Given the description of an element on the screen output the (x, y) to click on. 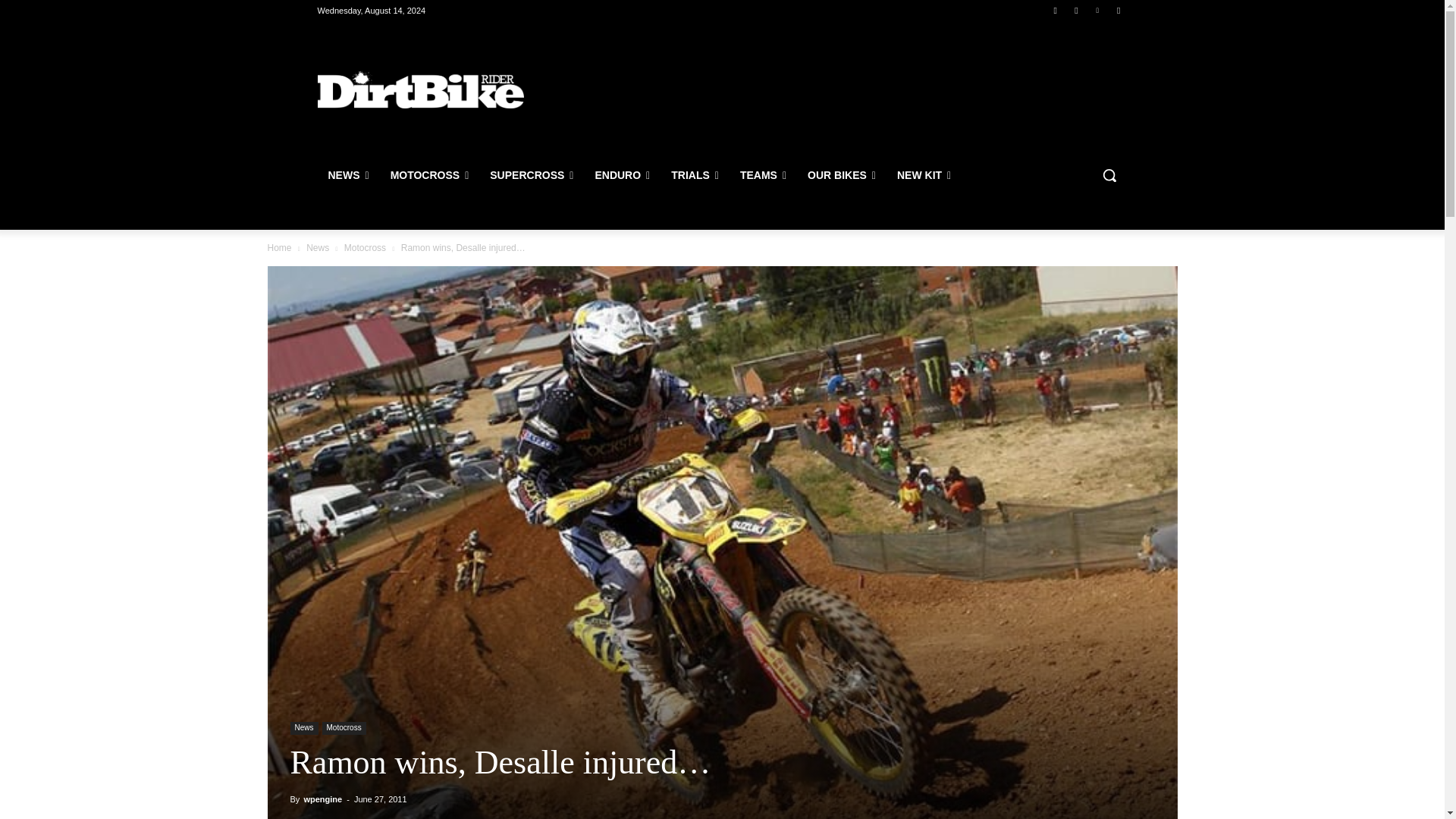
Facebook (1055, 9)
Twitter (1097, 9)
Instagram (1075, 9)
Youtube (1117, 9)
